Given the description of an element on the screen output the (x, y) to click on. 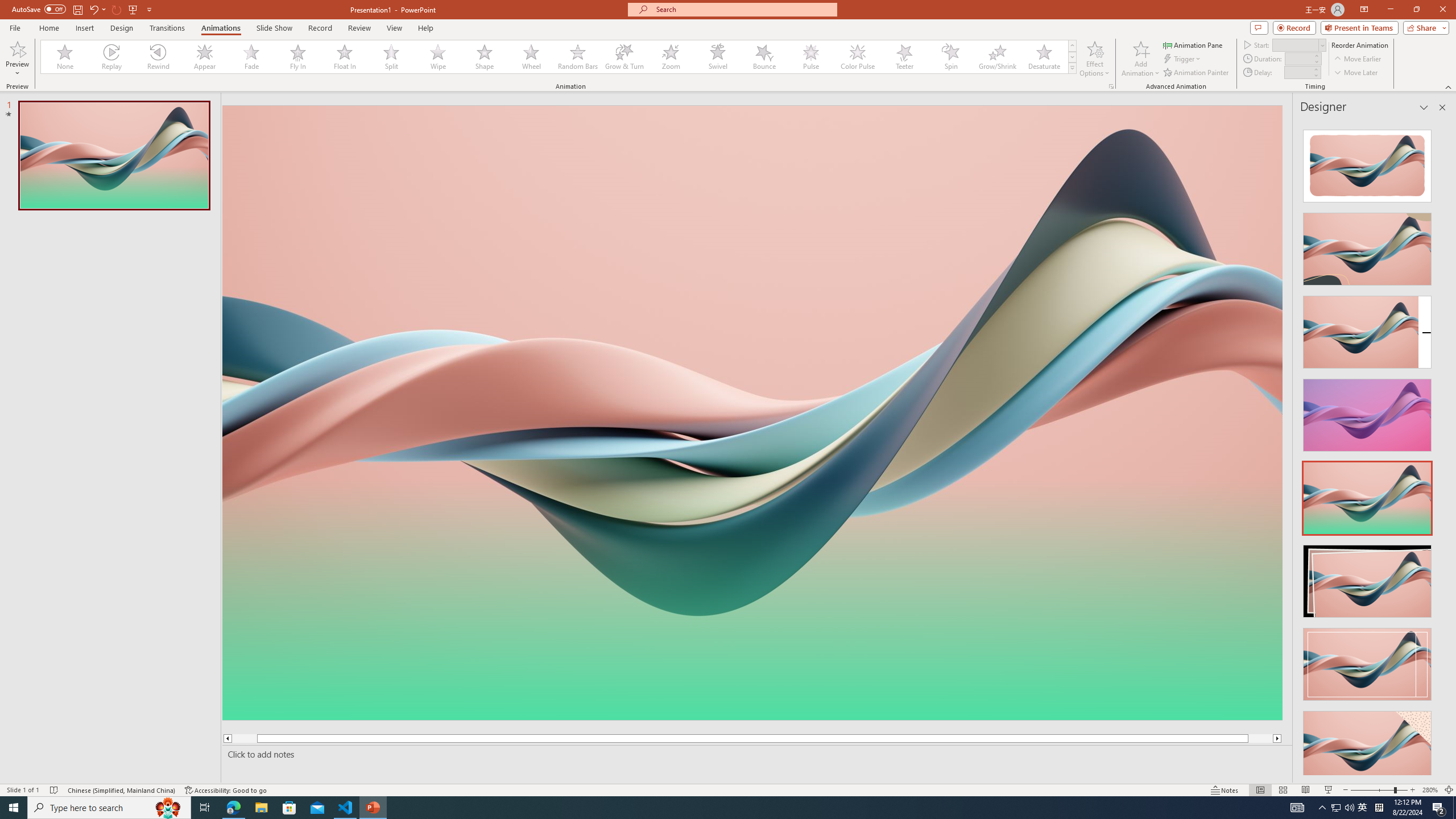
Teeter (903, 56)
Animation Delay (1297, 72)
Animation Painter (1196, 72)
Rewind (158, 56)
Desaturate (1043, 56)
